Given the description of an element on the screen output the (x, y) to click on. 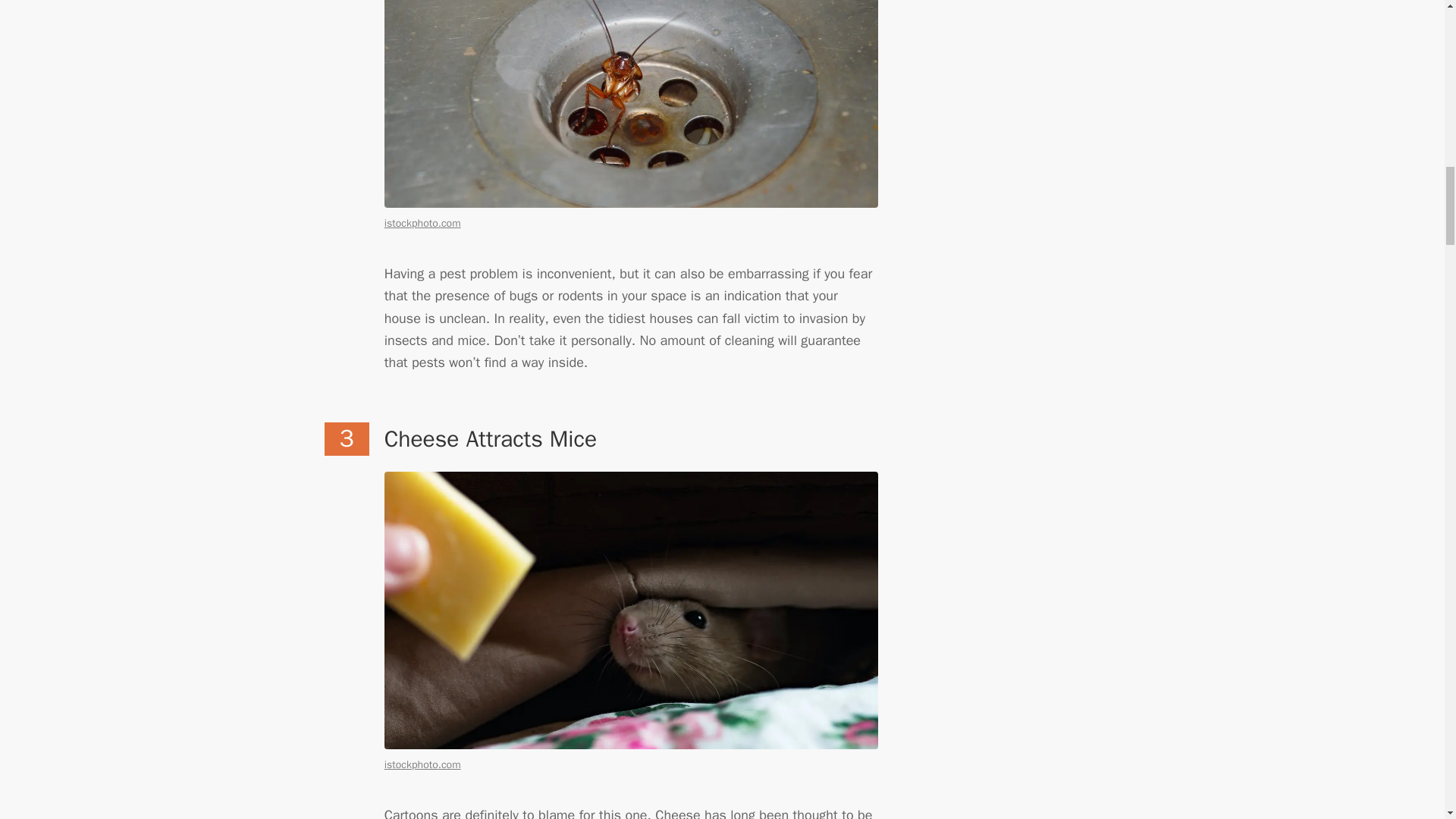
istockphoto.com (422, 764)
istockphoto.com (422, 223)
